Given the description of an element on the screen output the (x, y) to click on. 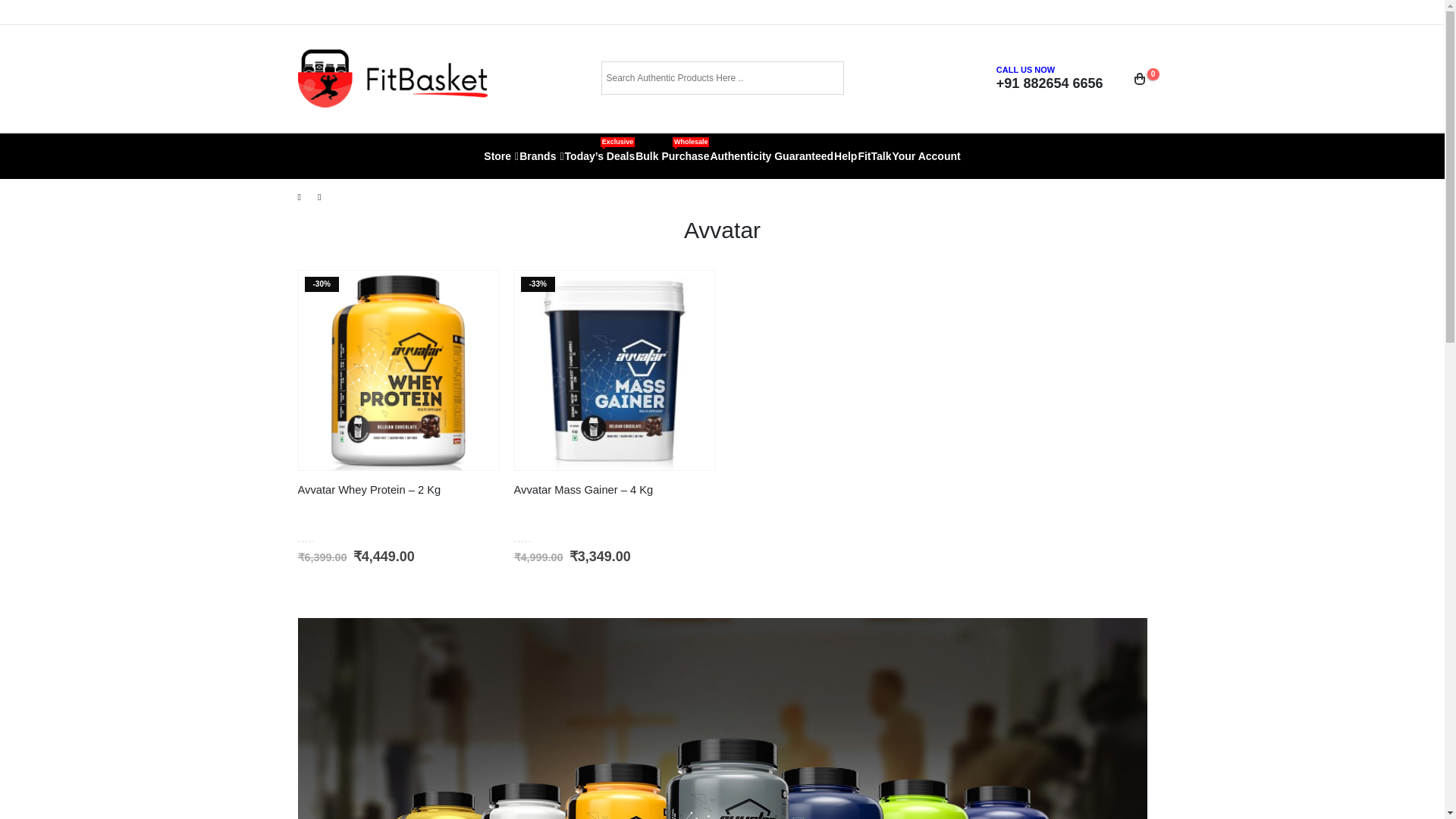
FitBasket - Authentic Products, Unbeatable Prices (391, 78)
